Given the description of an element on the screen output the (x, y) to click on. 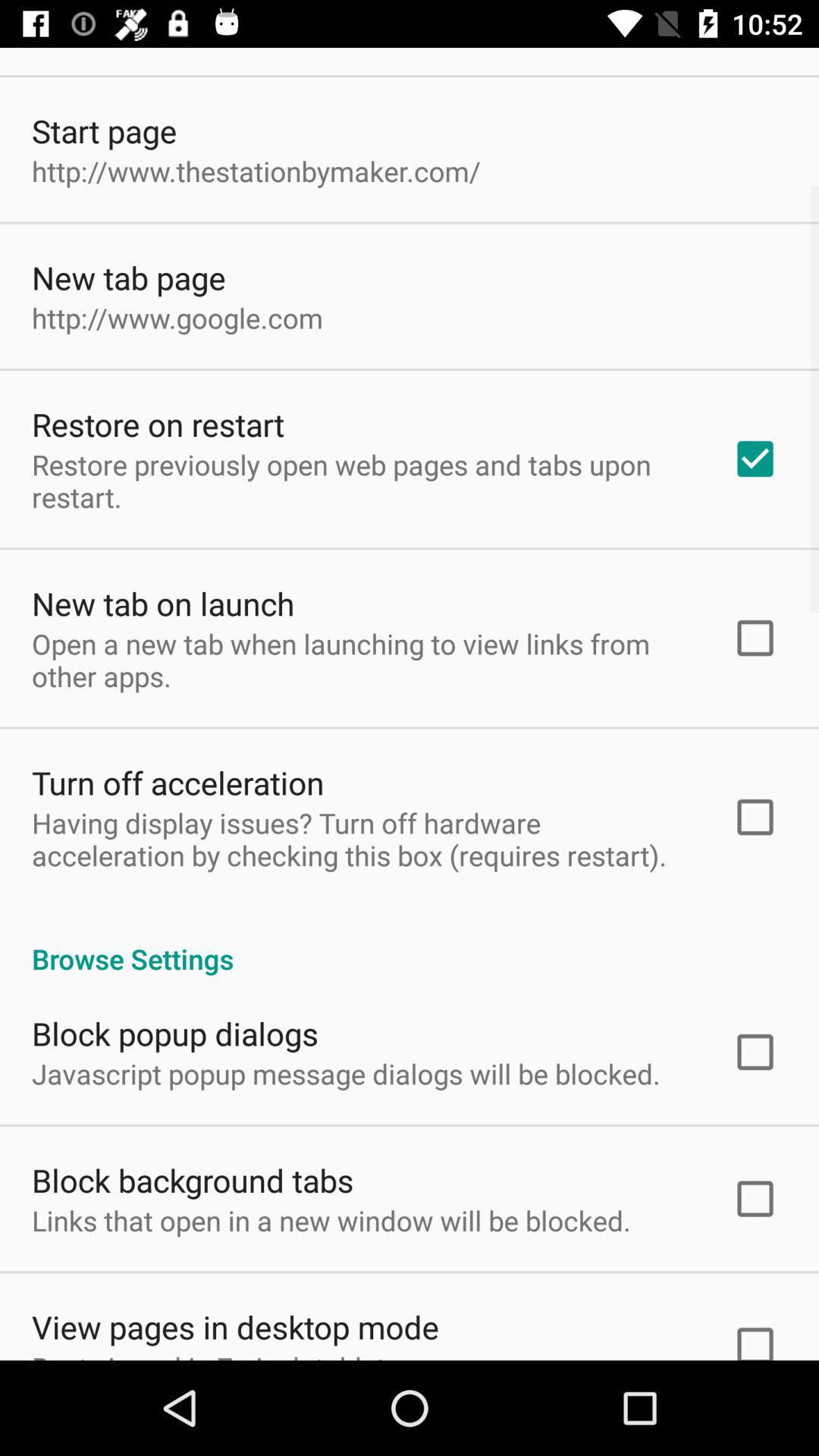
swipe to the view pages in item (235, 1326)
